Given the description of an element on the screen output the (x, y) to click on. 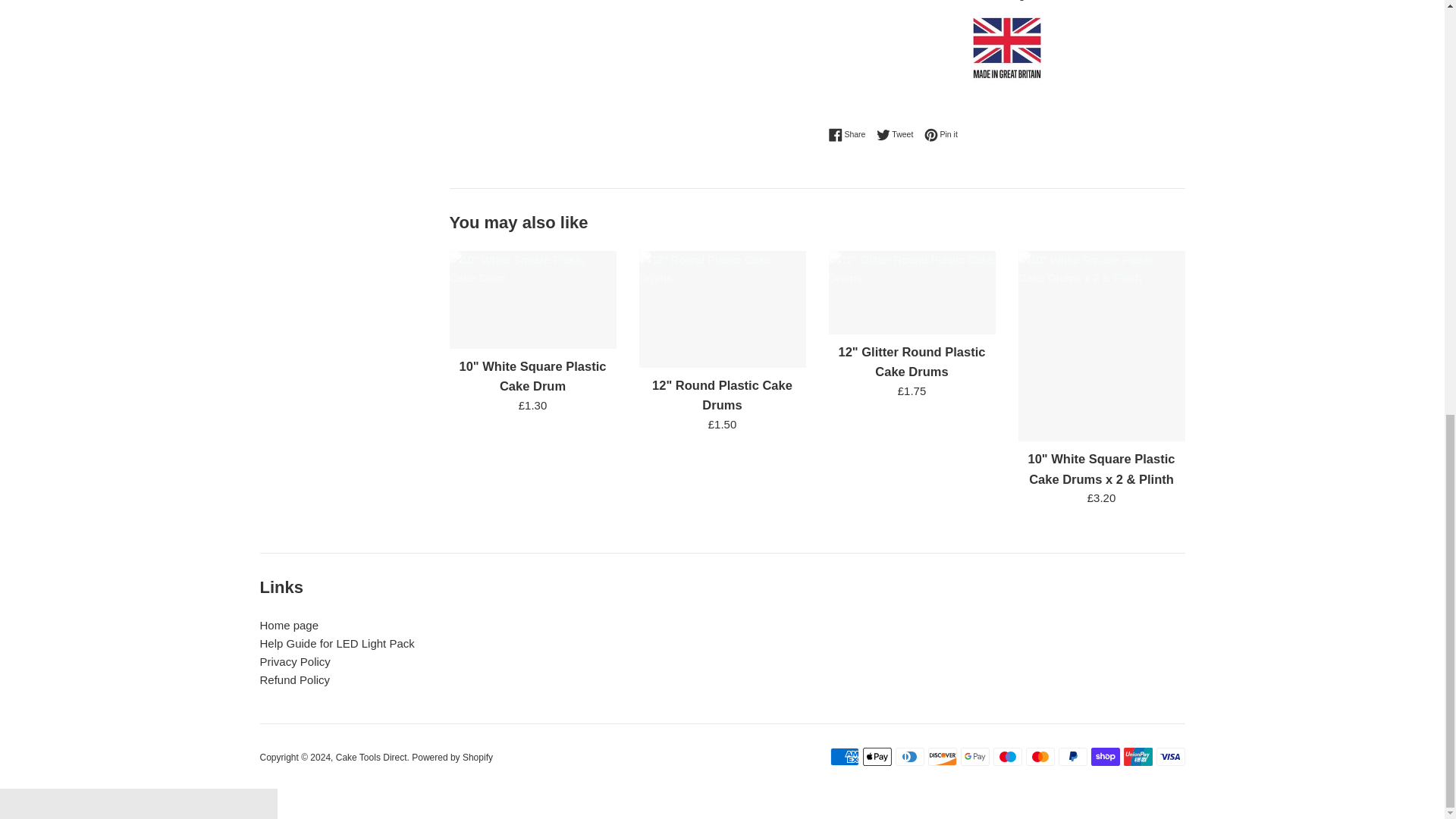
Mastercard (1039, 756)
Google Pay (973, 756)
Apple Pay (877, 756)
Diners Club (909, 756)
10" White Square Plastic Cake Drum (533, 376)
Share on Facebook (850, 134)
Shop Pay (1104, 756)
Maestro (1007, 756)
Visa (1170, 756)
PayPal (1072, 756)
